Given the description of an element on the screen output the (x, y) to click on. 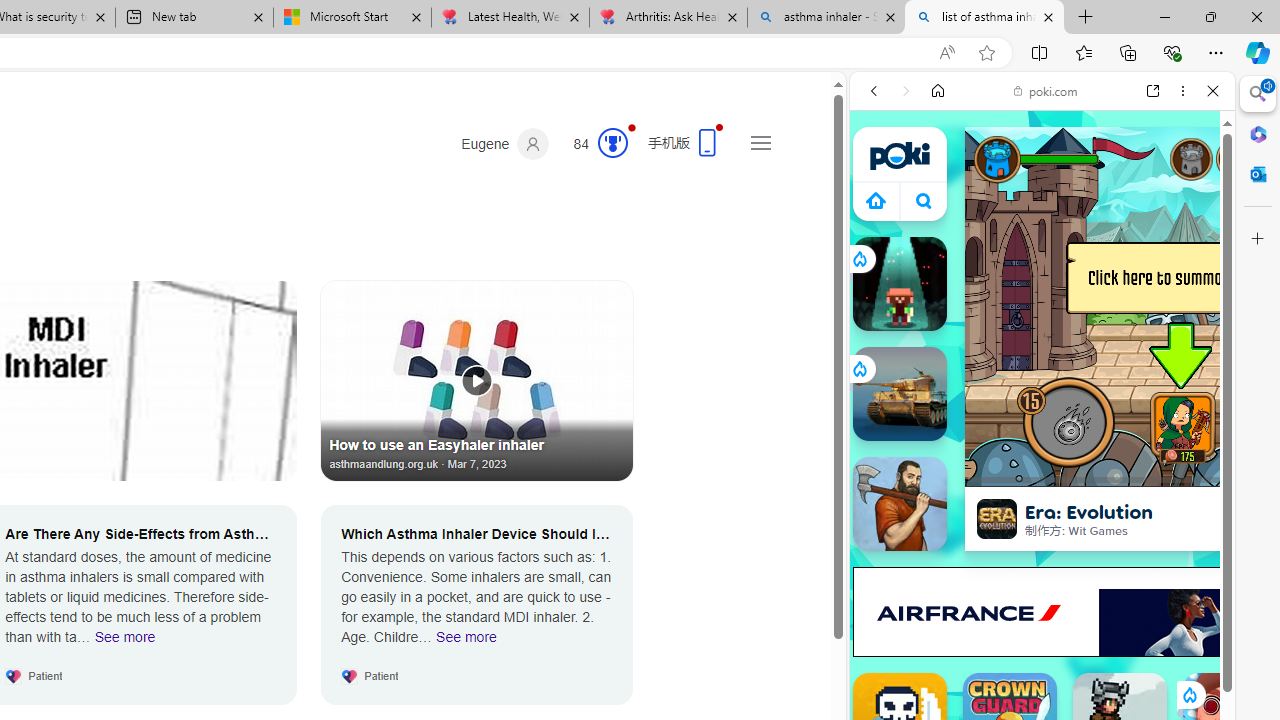
___ (879, 577)
Class: aprWdaSScyiJf4Jvmsx9 (875, 200)
Castle Woodwarf Castle Woodwarf (899, 503)
Search Filter, Search Tools (1093, 228)
Shooting Games (1042, 518)
Tiger Tank Tiger Tank (899, 393)
Poki - Free Online Games - Play Now! (1034, 309)
Class: rCs5cyEiqiTpYvt_VBCR (1189, 695)
Tiger Tank (899, 393)
